Given the description of an element on the screen output the (x, y) to click on. 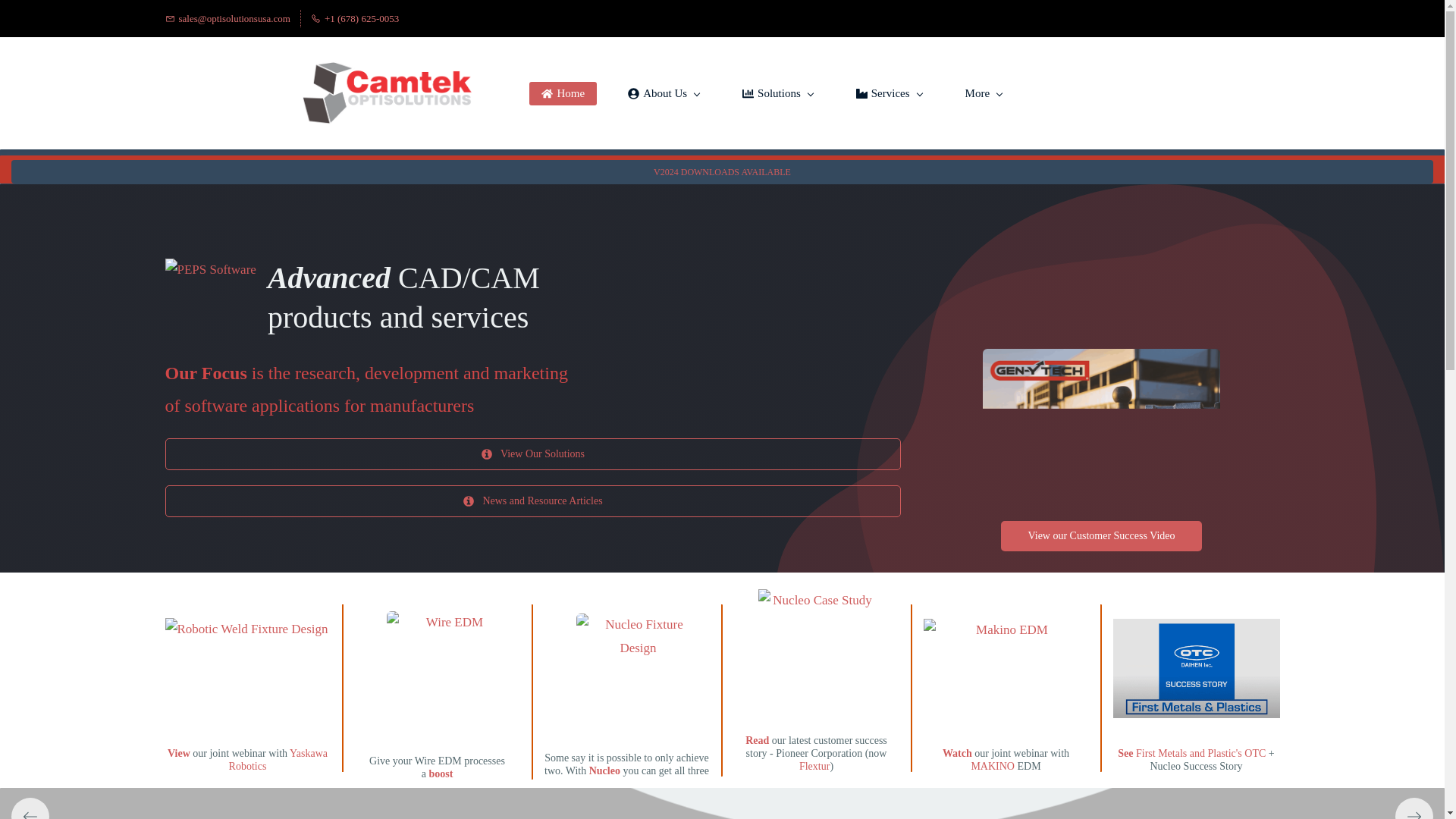
Home (562, 93)
V2024 DOWNLOADS AVAILABLE (721, 172)
About Us (663, 93)
Services (889, 93)
Services (889, 93)
About Us (663, 93)
More (983, 93)
Phone Number (354, 18)
Solutions (777, 93)
View Our Solutions (533, 454)
